Given the description of an element on the screen output the (x, y) to click on. 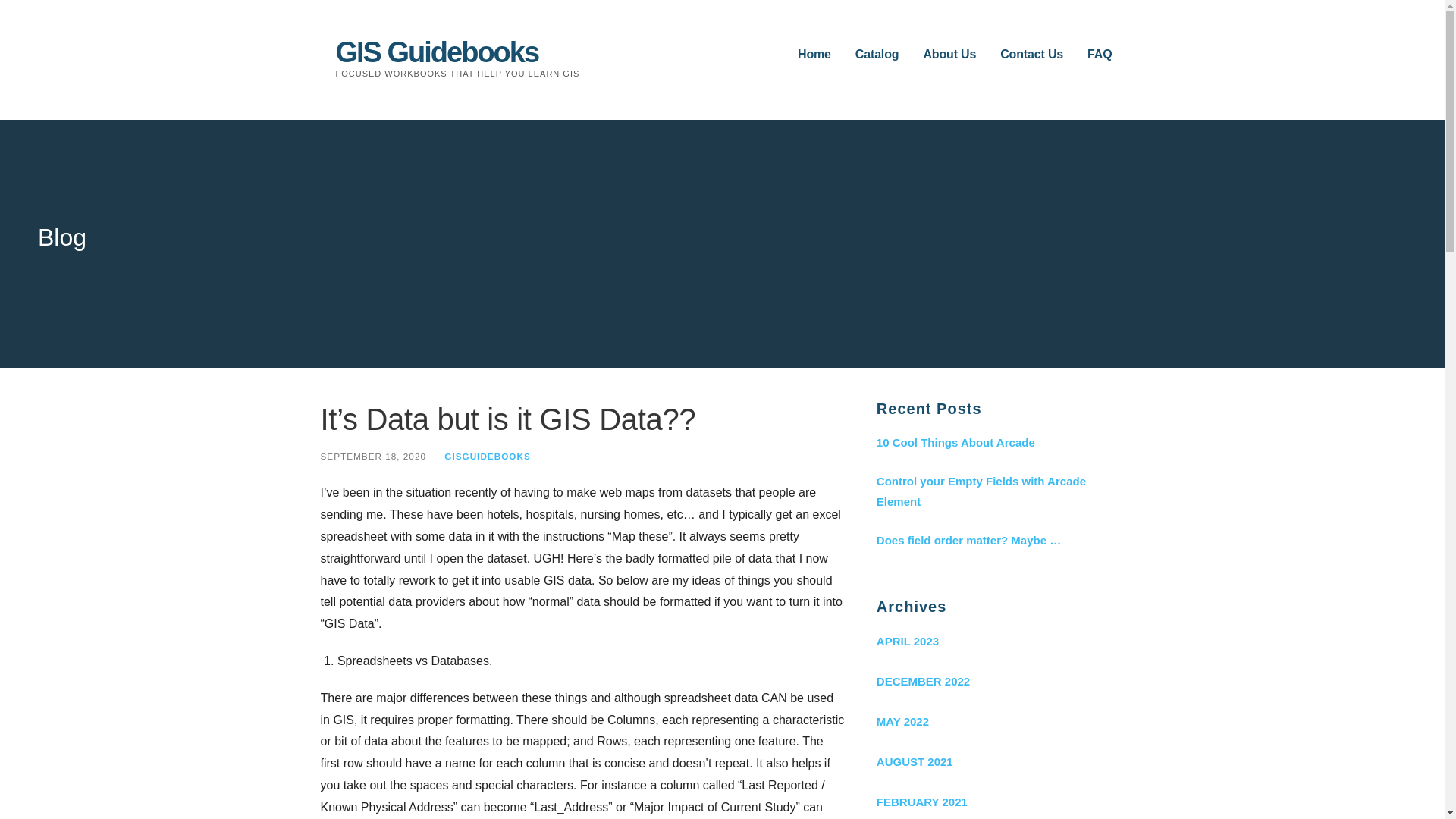
Posts by gisguidebooks (487, 456)
GIS Guidebooks (436, 51)
DECEMBER 2022 (1000, 680)
Catalog (877, 55)
AUGUST 2021 (1000, 762)
APRIL 2023 (1000, 640)
10 Cool Things About Arcade (1000, 442)
FEBRUARY 2021 (1000, 800)
Contact Us (1031, 55)
Home (814, 55)
About Us (949, 55)
Control your Empty Fields with Arcade Element (1000, 490)
GISGUIDEBOOKS (487, 456)
MAY 2022 (1000, 721)
